Given the description of an element on the screen output the (x, y) to click on. 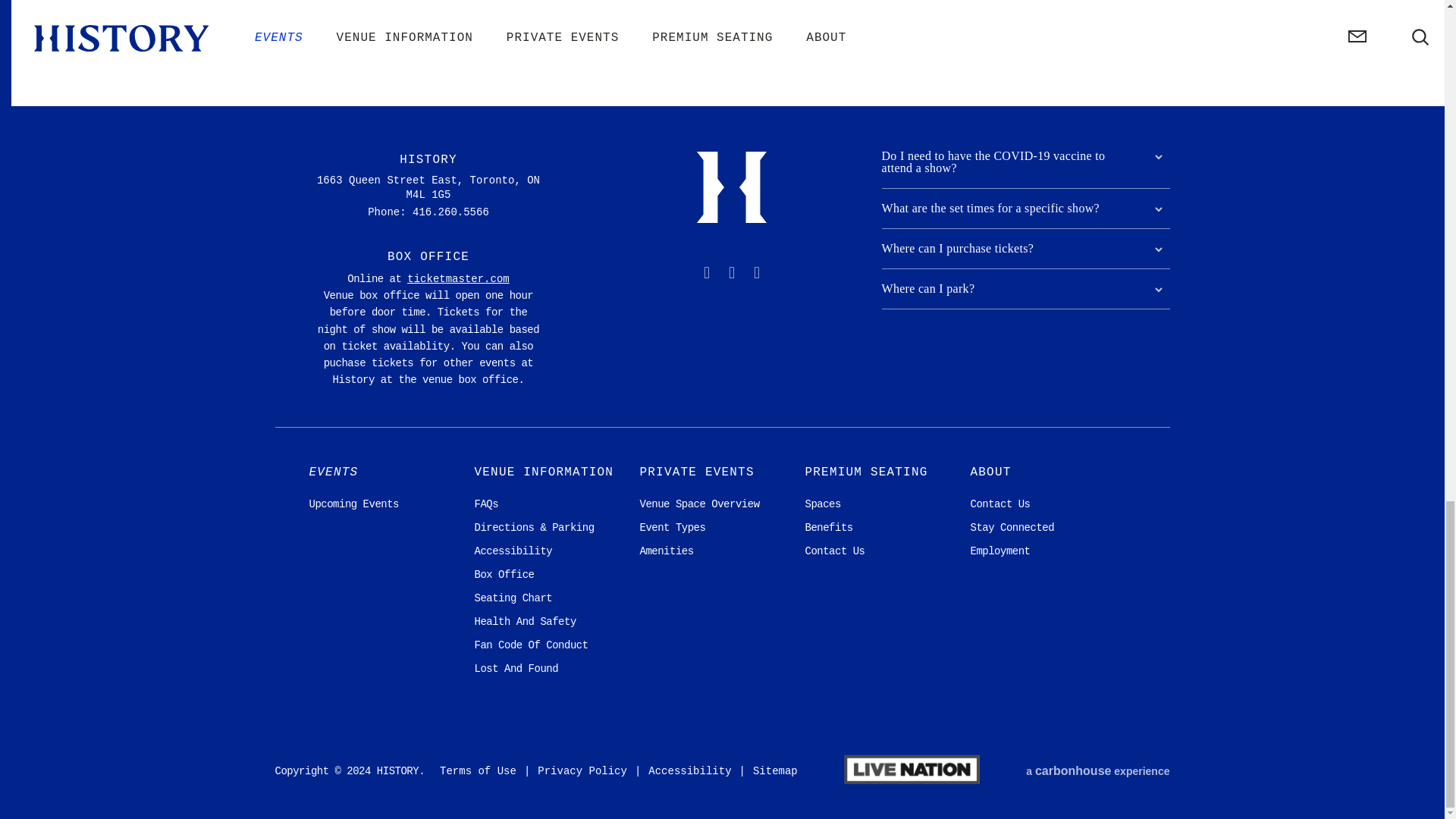
a carbonhouse experience (1097, 770)
Live Nation (911, 771)
HISTORY (732, 188)
